Given the description of an element on the screen output the (x, y) to click on. 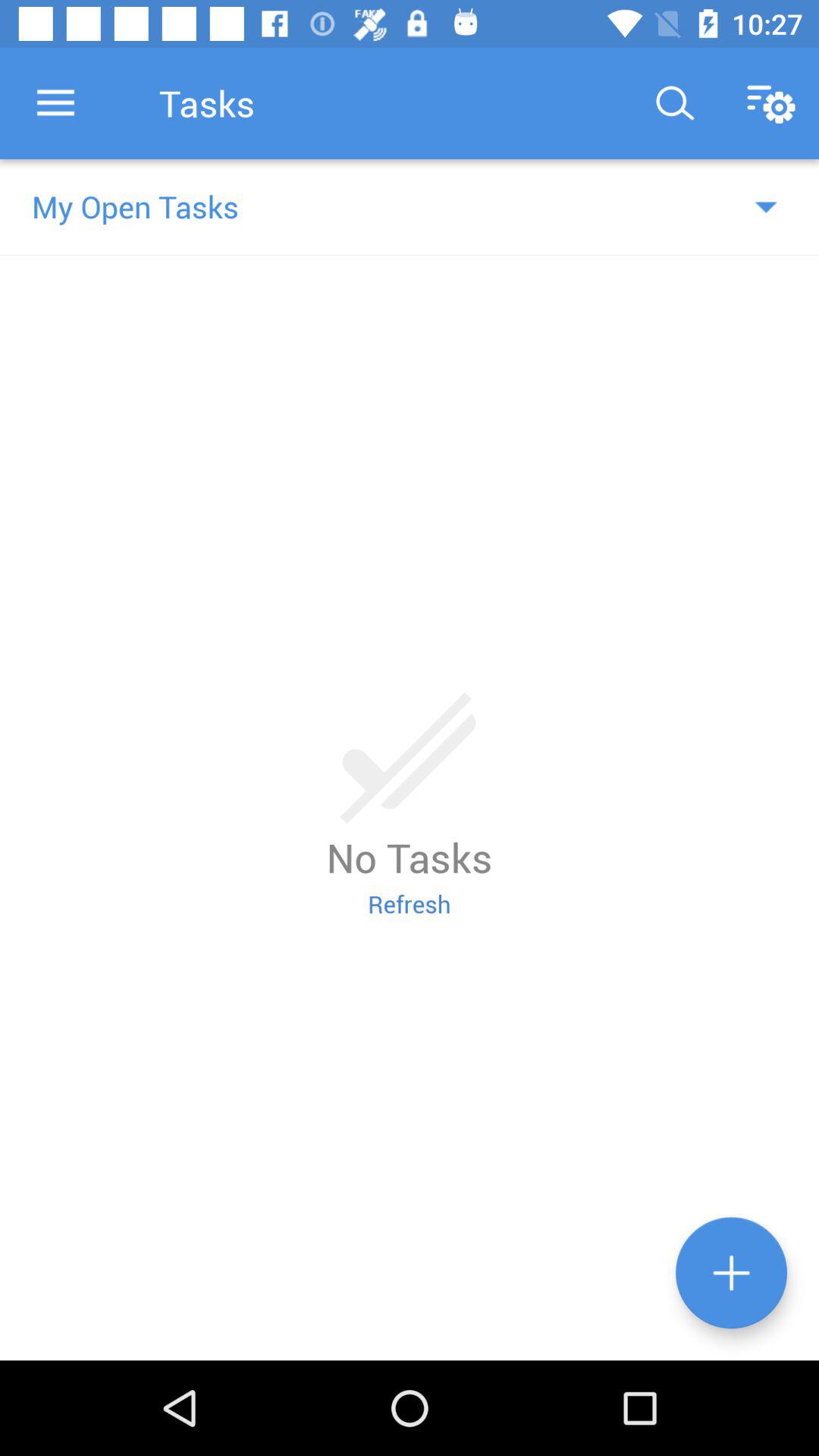
click add (731, 1272)
